Given the description of an element on the screen output the (x, y) to click on. 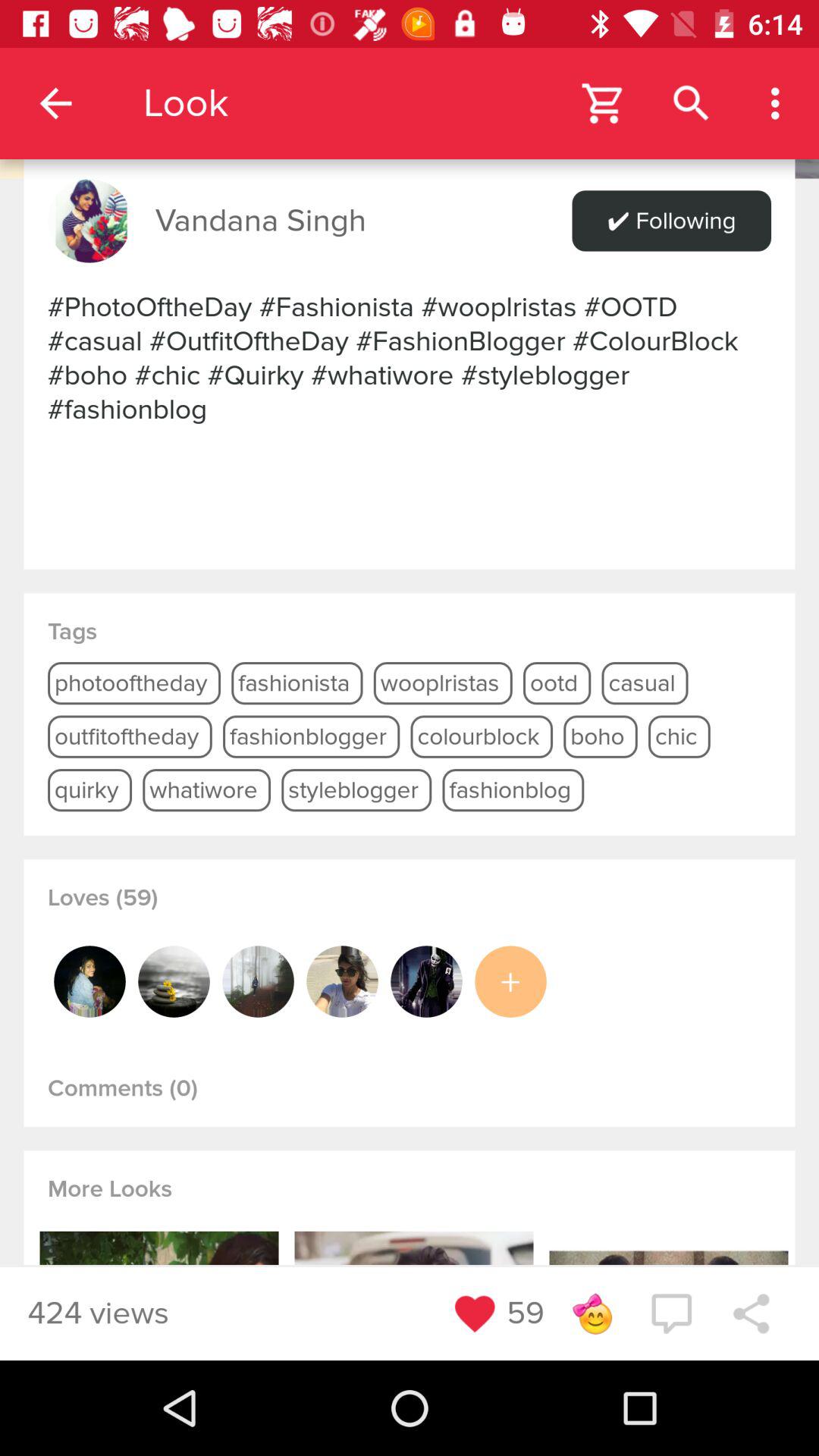
press icon below the loves (59) item (173, 981)
